Given the description of an element on the screen output the (x, y) to click on. 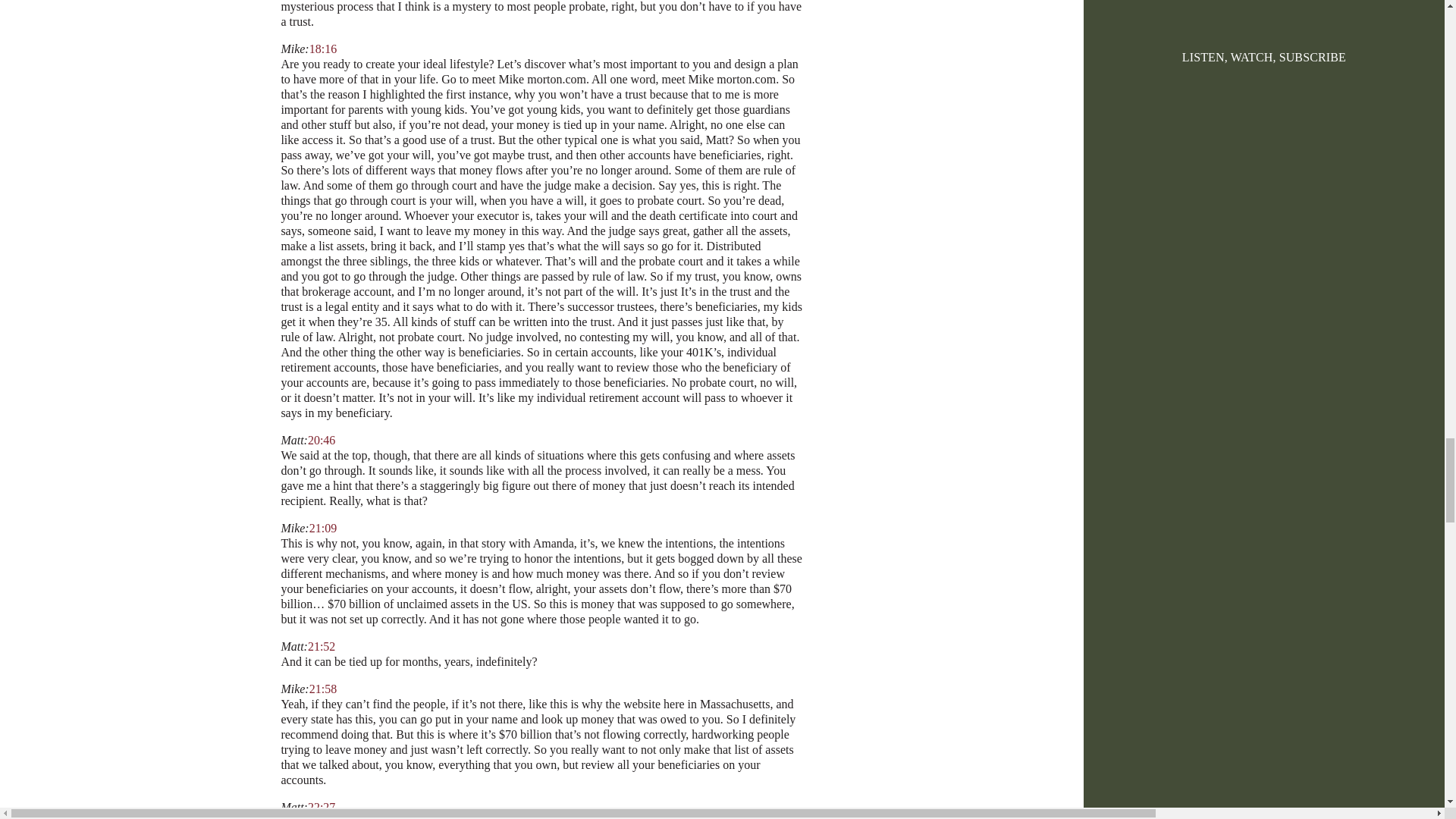
18:16 (322, 48)
20:46 (320, 440)
21:09 (322, 527)
21:52 (320, 645)
